Given the description of an element on the screen output the (x, y) to click on. 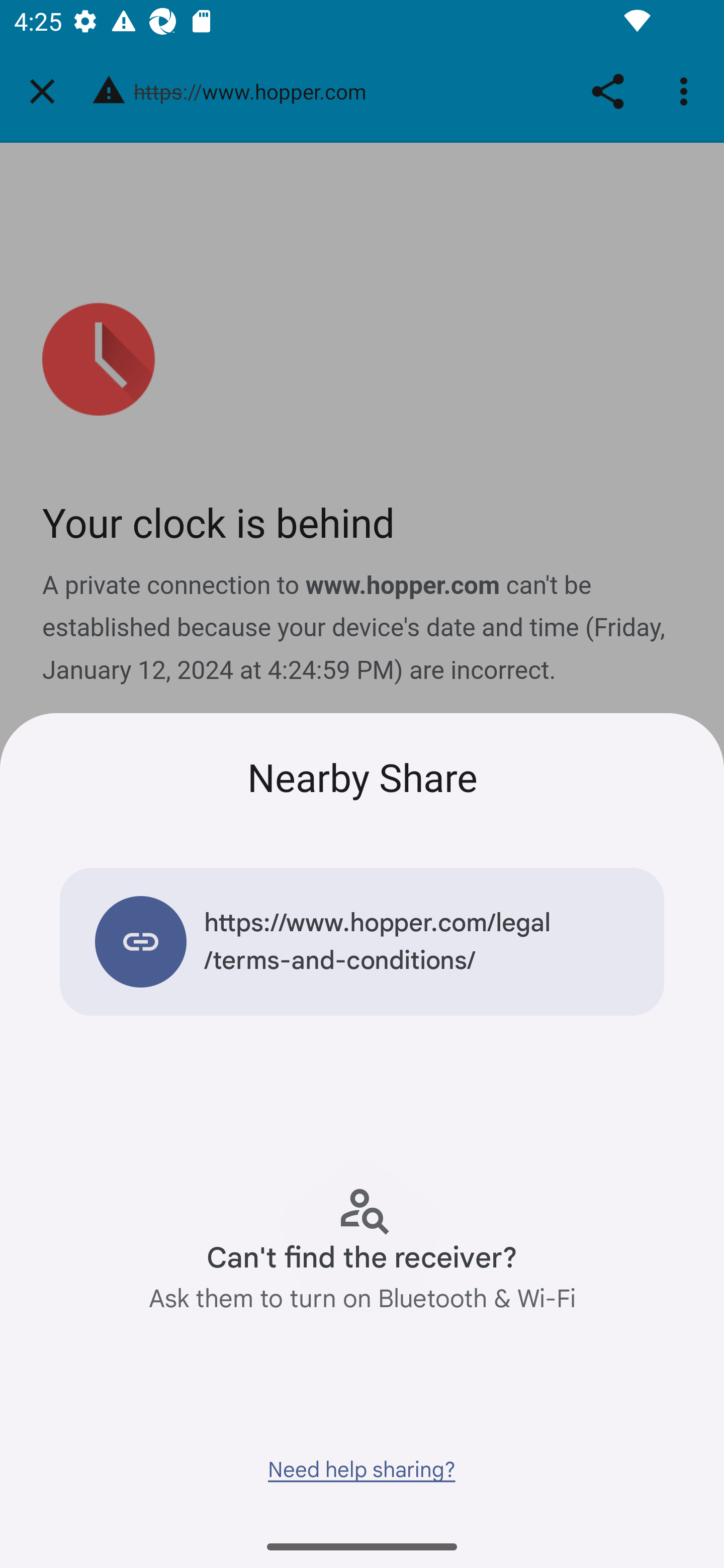
Need help sharing? (361, 1468)
